Given the description of an element on the screen output the (x, y) to click on. 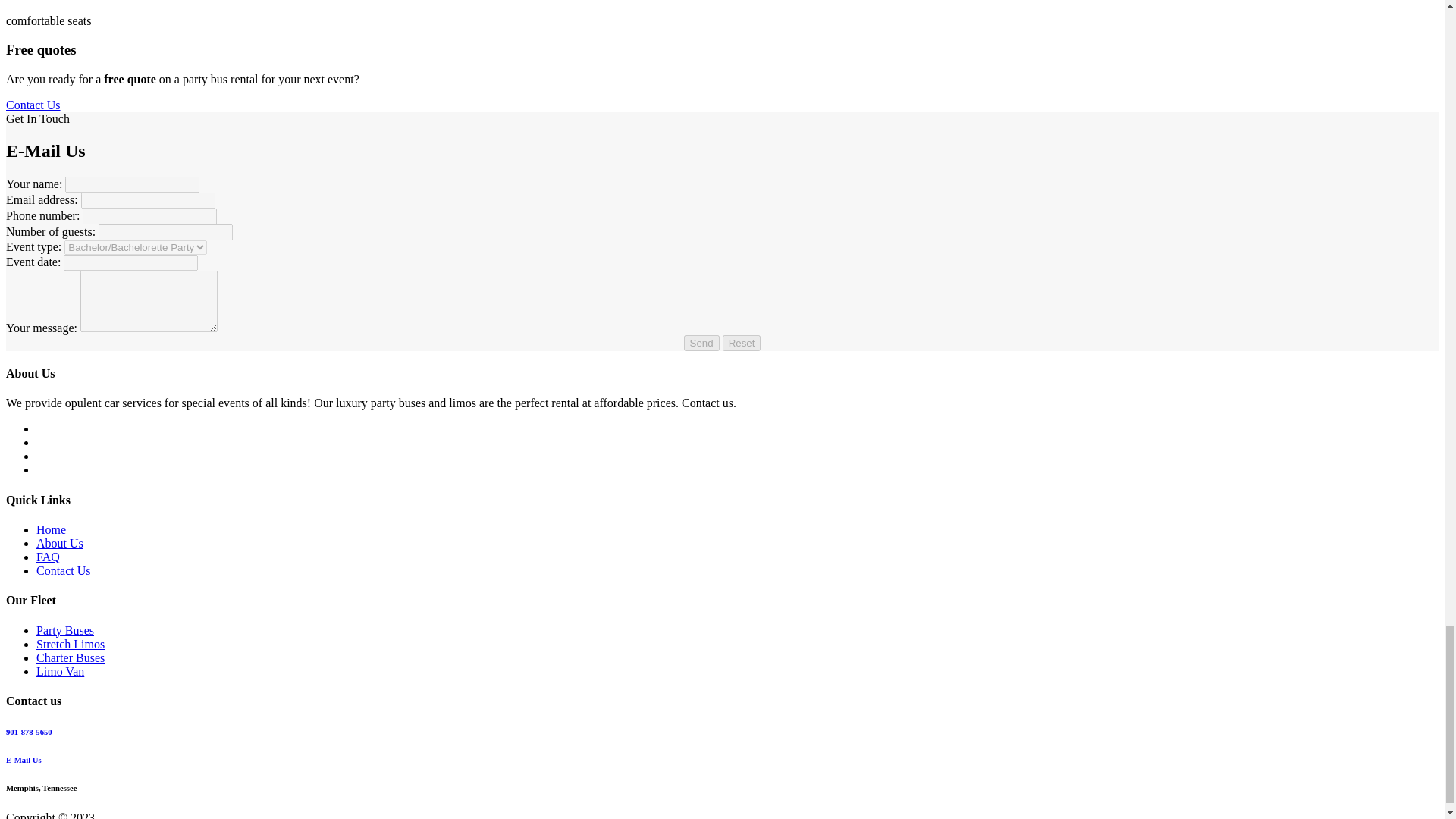
Reset (741, 342)
Home (50, 529)
FAQ (47, 556)
Send (701, 342)
Stretch Limos (70, 643)
Charter Buses (70, 656)
About Us (59, 543)
Limo Van (60, 670)
Send (701, 342)
Contact Us (63, 570)
Party Buses (65, 629)
Contact Us (33, 104)
901-878-5650 (28, 731)
E-Mail Us (23, 759)
